Given the description of an element on the screen output the (x, y) to click on. 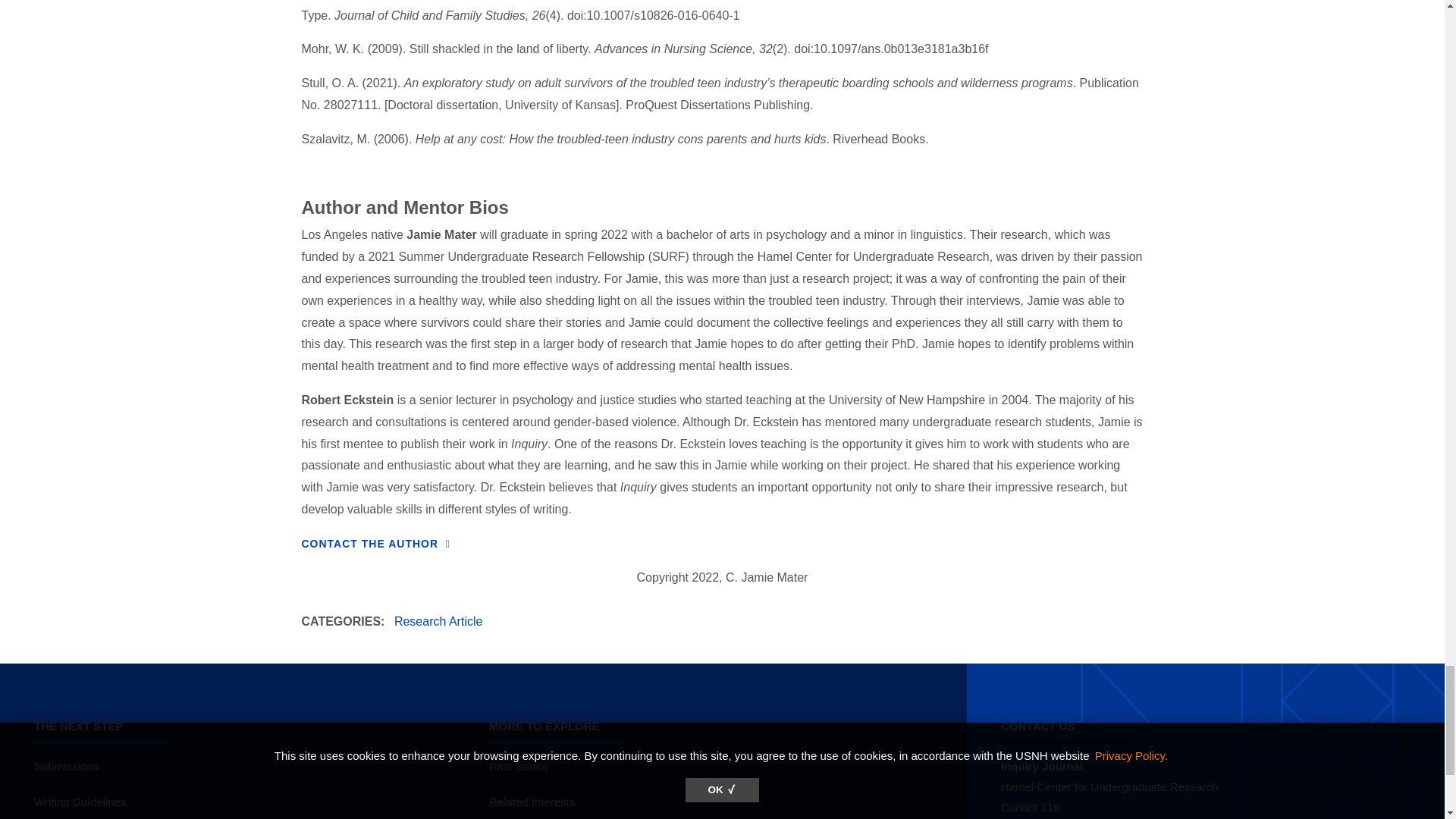
Related Interests (532, 801)
Writing Guidelines (79, 801)
Past Issues (518, 766)
Submissions (66, 766)
Submissions (66, 766)
Writing Guidelines (79, 801)
Archive (518, 766)
Contact Us (376, 543)
Research Article (438, 621)
Related Interests (532, 801)
CONTACT THE AUTHOR  (376, 543)
